Given the description of an element on the screen output the (x, y) to click on. 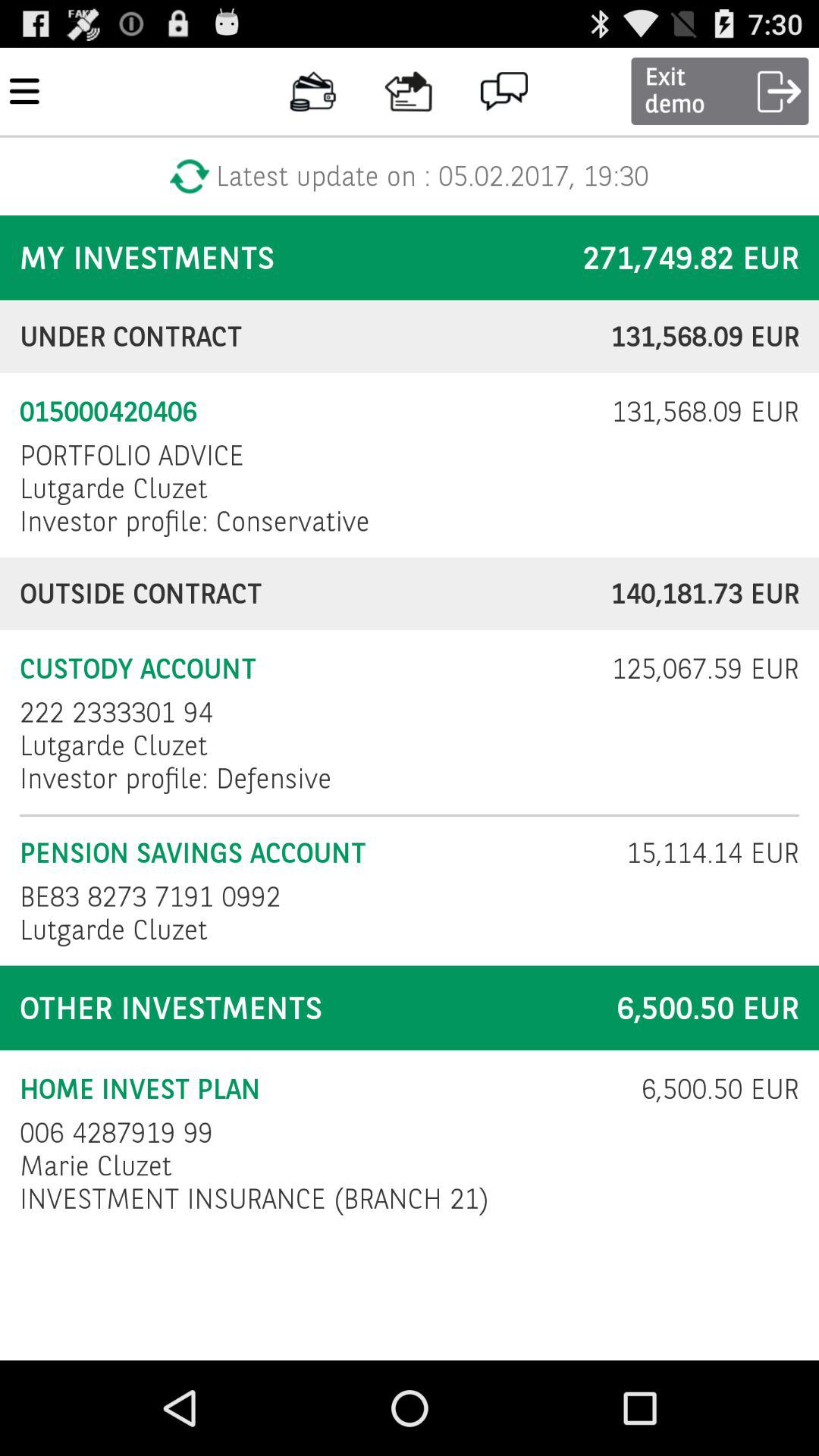
press the checkbox to the left of 6 500 50 item (320, 1089)
